Given the description of an element on the screen output the (x, y) to click on. 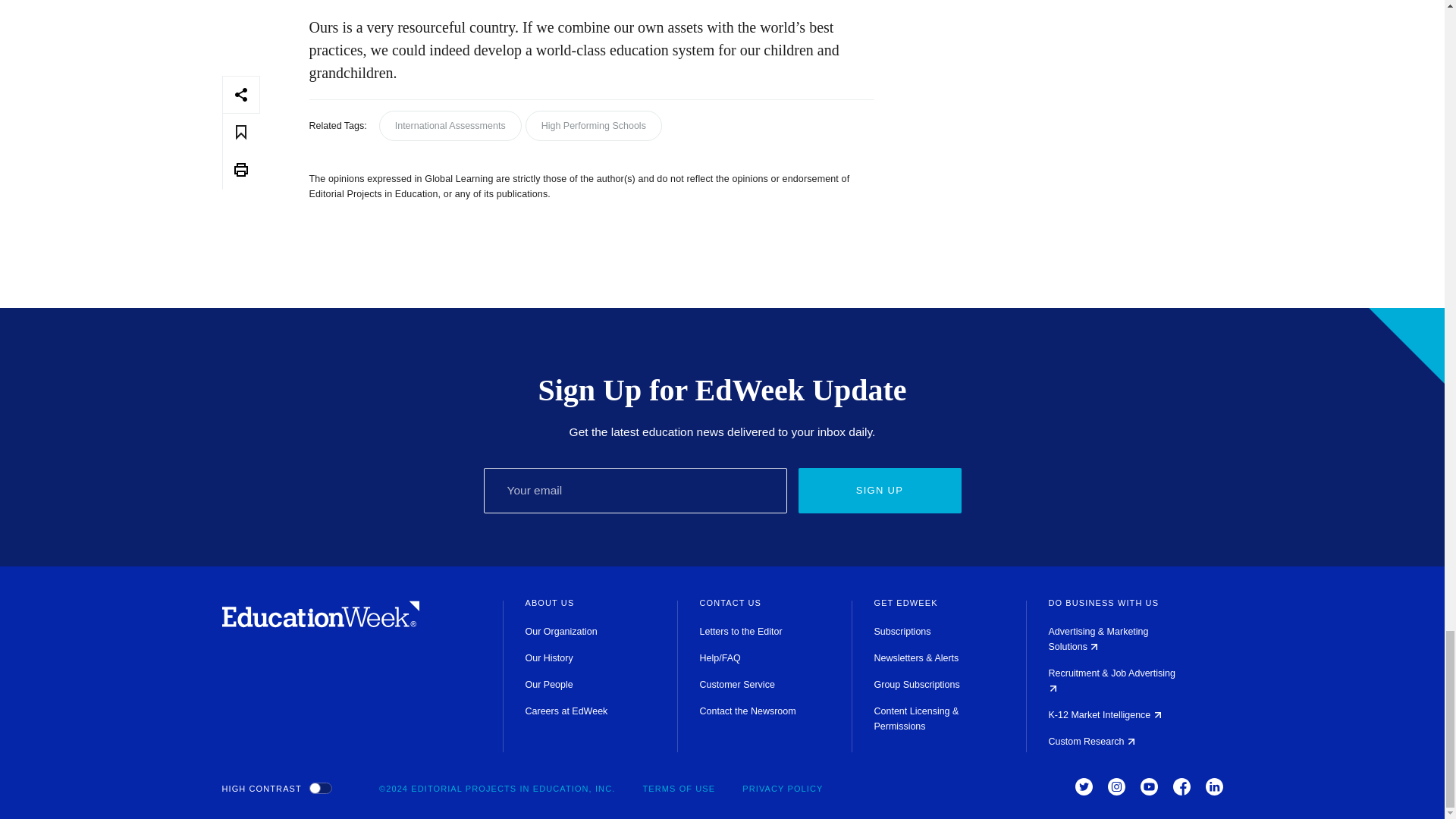
Homepage (320, 623)
